Given the description of an element on the screen output the (x, y) to click on. 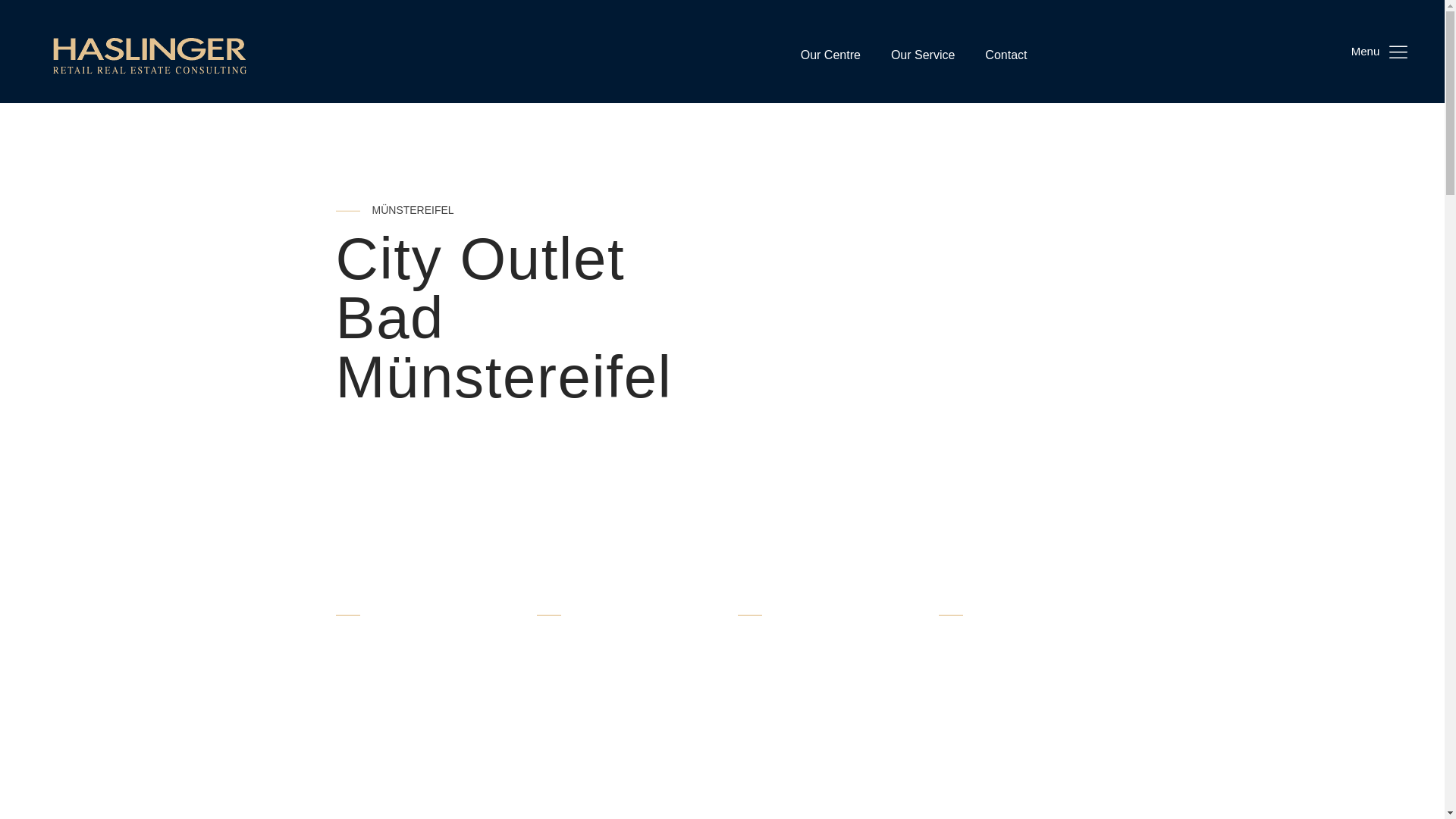
Search (25, 9)
